Given the description of an element on the screen output the (x, y) to click on. 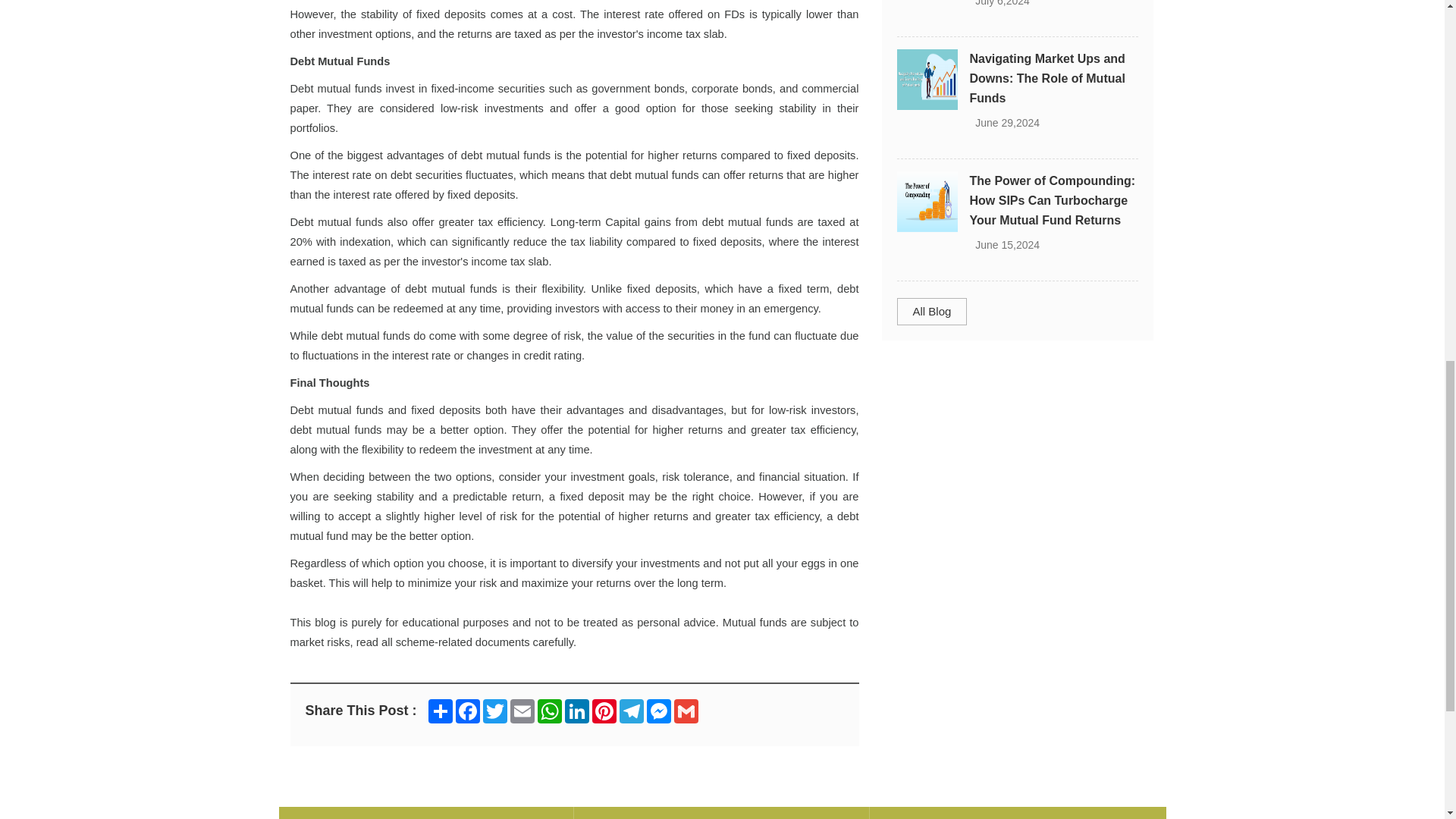
Share (440, 711)
Facebook (467, 711)
Messenger (658, 711)
Twitter (494, 711)
Email (521, 711)
All Blog (931, 311)
LinkedIn (577, 711)
Navigating Market Ups and Downs: The Role of Mutual Funds (1053, 78)
Gmail (686, 711)
WhatsApp (549, 711)
Telegram (631, 711)
Pinterest (604, 711)
